Given the description of an element on the screen output the (x, y) to click on. 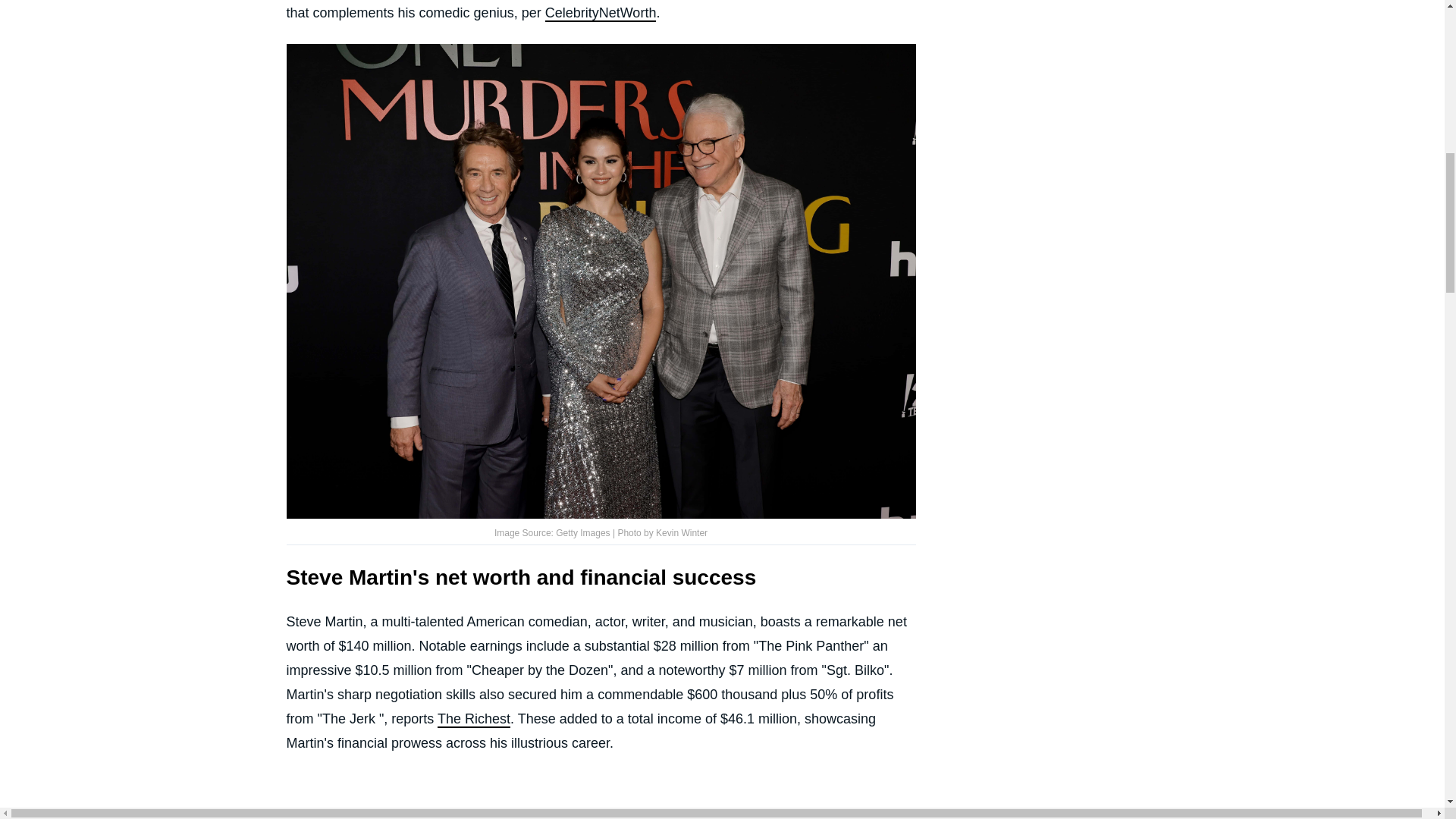
CelebrityNetWorth (600, 13)
The Richest (474, 719)
